Given the description of an element on the screen output the (x, y) to click on. 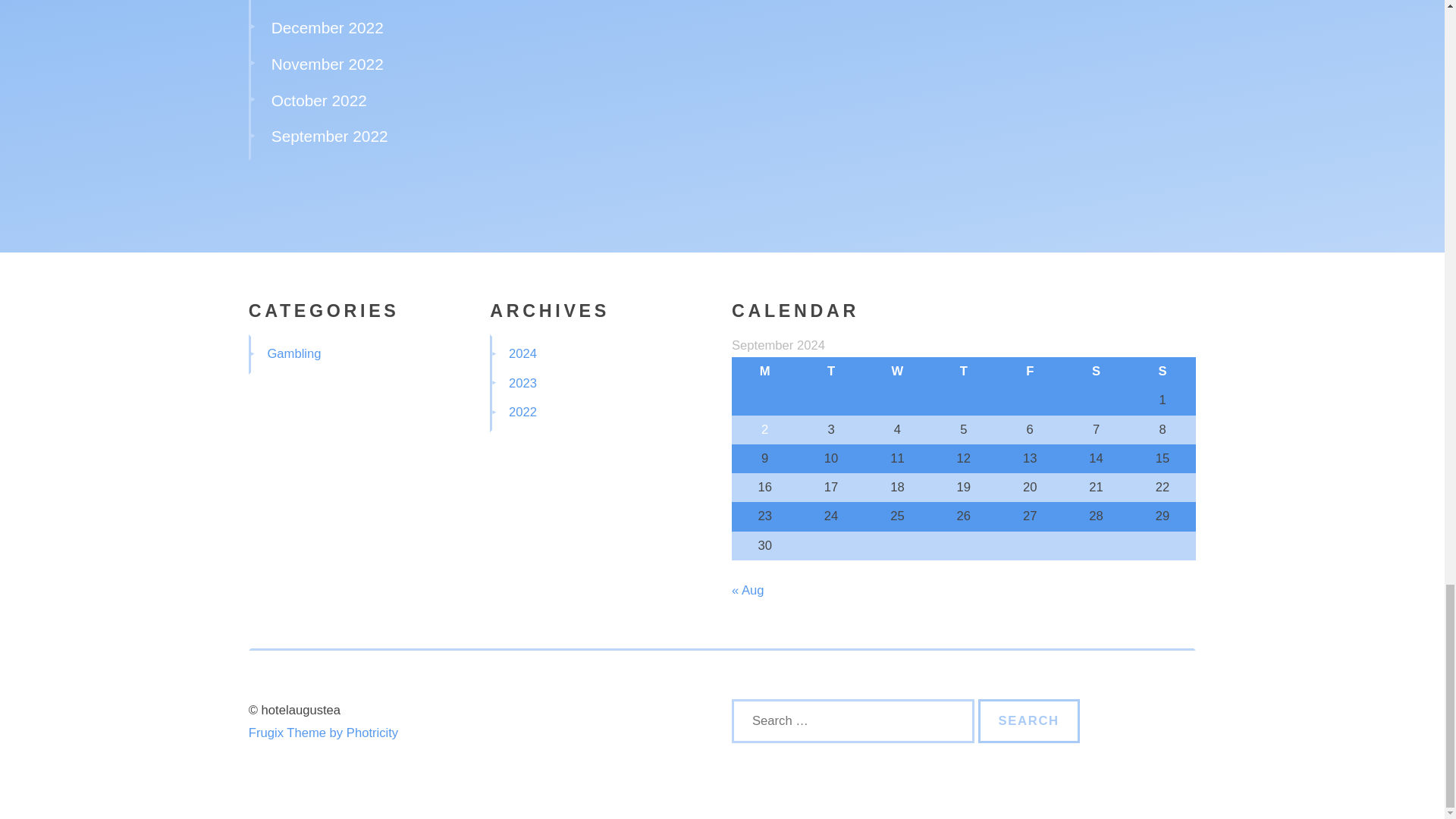
Thursday (962, 371)
Saturday (1095, 371)
Monday (764, 371)
Friday (1029, 371)
Search (1029, 720)
November 2022 (327, 63)
Search (1029, 720)
Tuesday (830, 371)
December 2022 (327, 27)
October 2022 (318, 99)
